Given the description of an element on the screen output the (x, y) to click on. 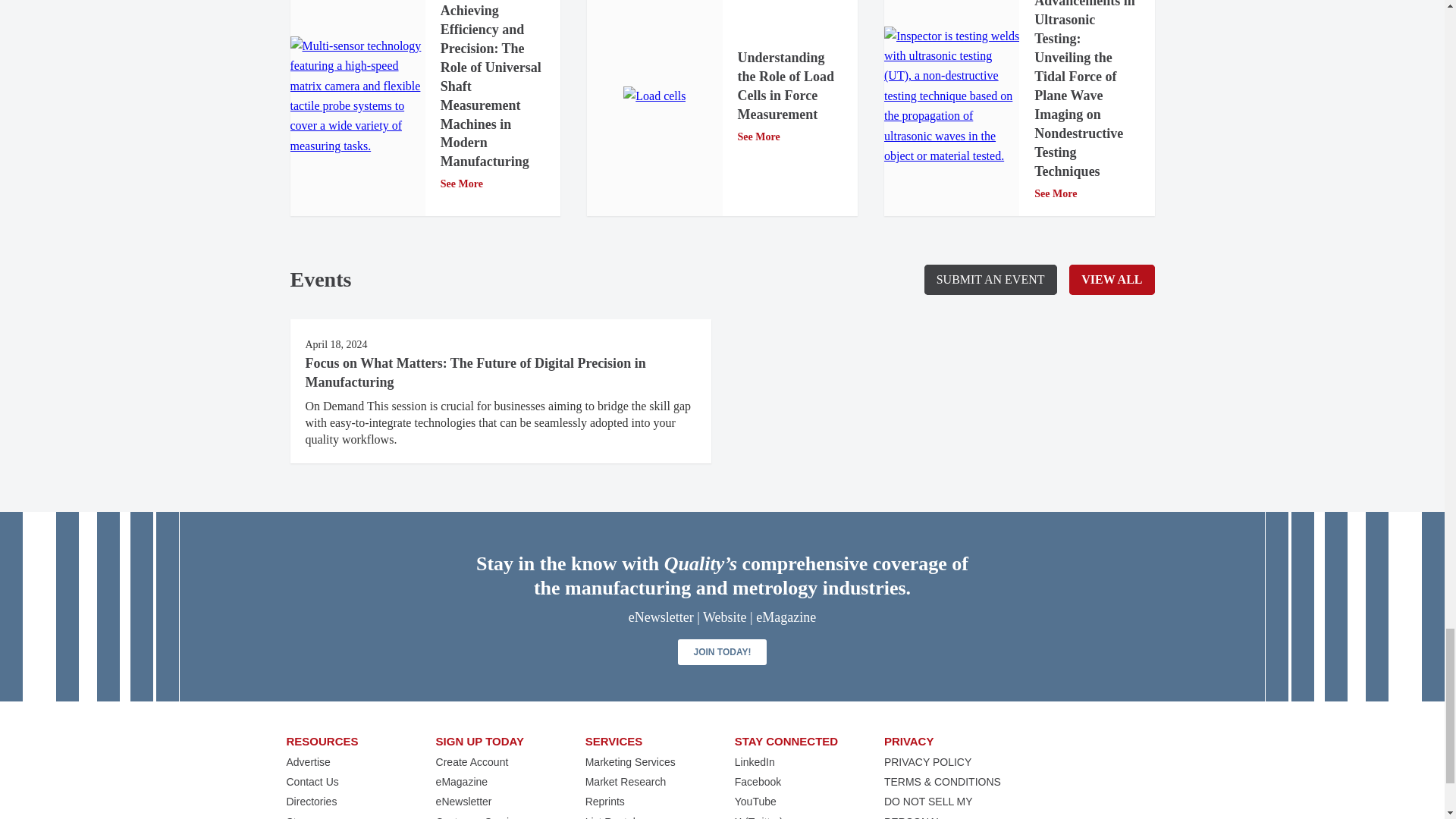
Ultrasonic Testing on welds (951, 96)
Load cells (654, 96)
